Given the description of an element on the screen output the (x, y) to click on. 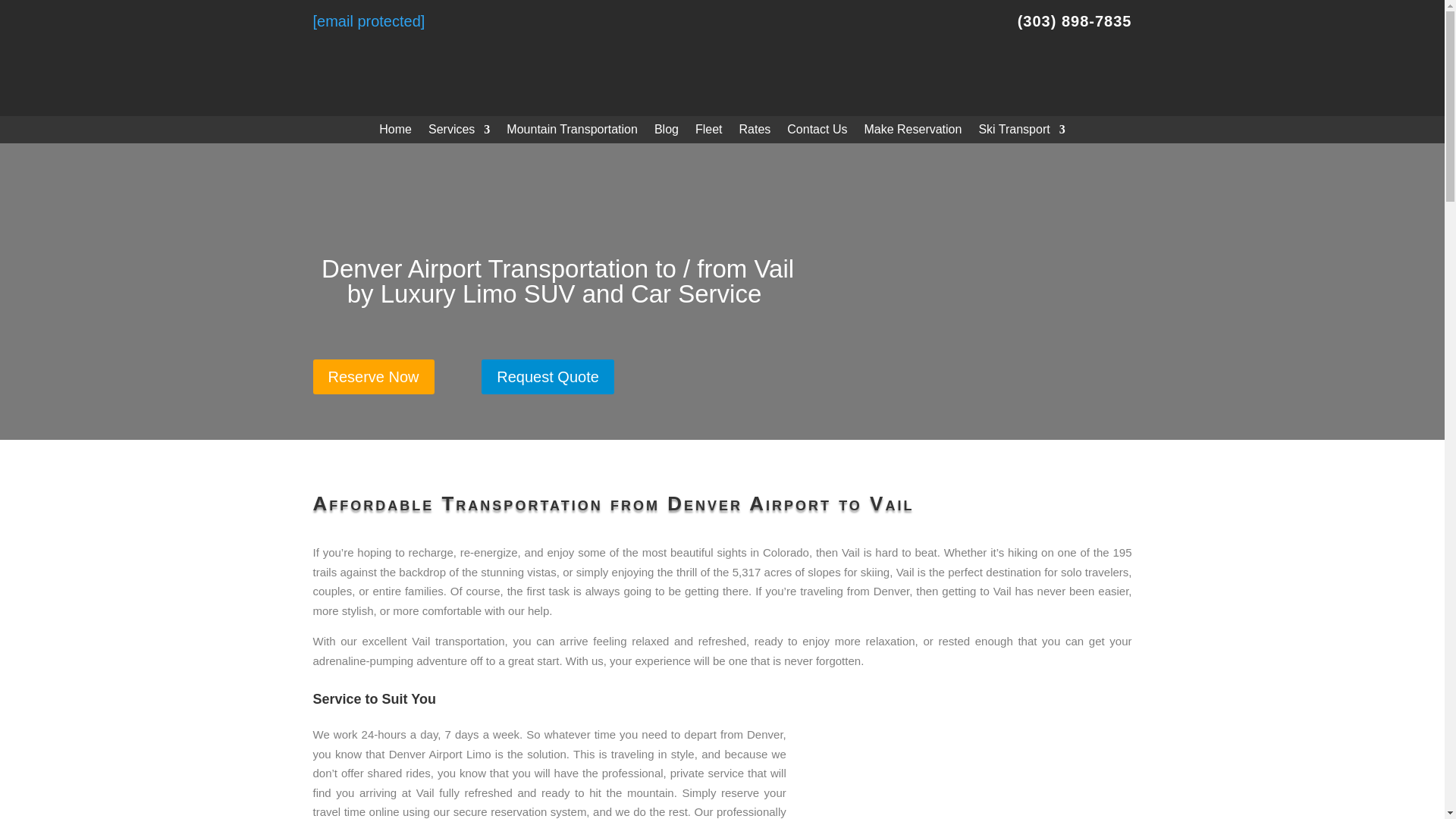
Rates (755, 132)
Fleet (708, 132)
Contact Us (817, 132)
Services (458, 132)
Make Reservation (911, 132)
denver (722, 58)
Reserve Now (373, 376)
Request Quote (547, 376)
Blog (665, 132)
Mountain Transportation (571, 132)
Ski Transport (1021, 132)
Home (395, 132)
